Given the description of an element on the screen output the (x, y) to click on. 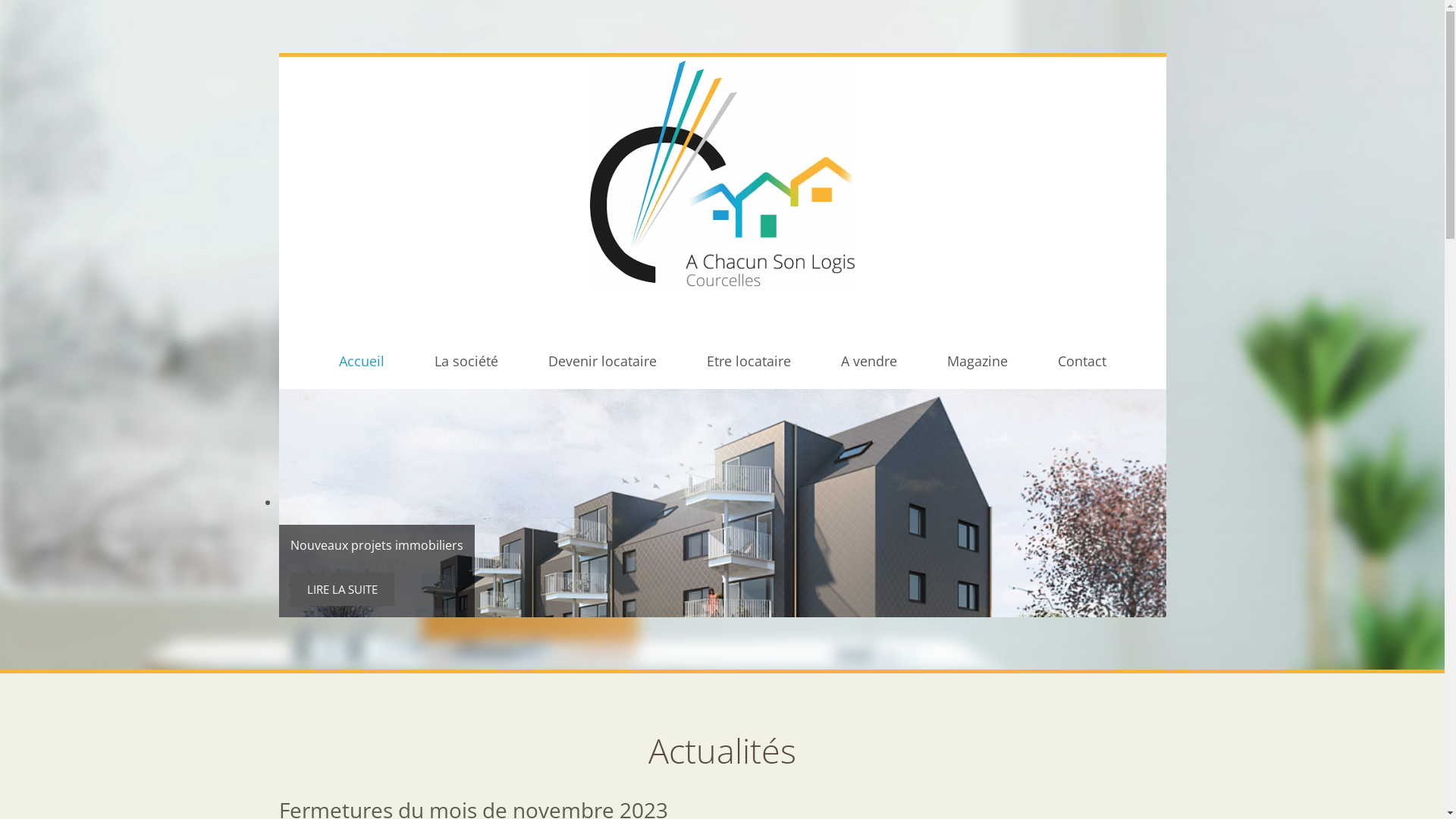
LIRE LA SUITE Element type: text (341, 588)
Accueil Element type: text (360, 360)
A vendre Element type: text (868, 360)
Devenir locataire Element type: text (601, 360)
Contact Element type: text (1081, 360)
Magazine Element type: text (976, 360)
Etre locataire Element type: text (748, 360)
